Given the description of an element on the screen output the (x, y) to click on. 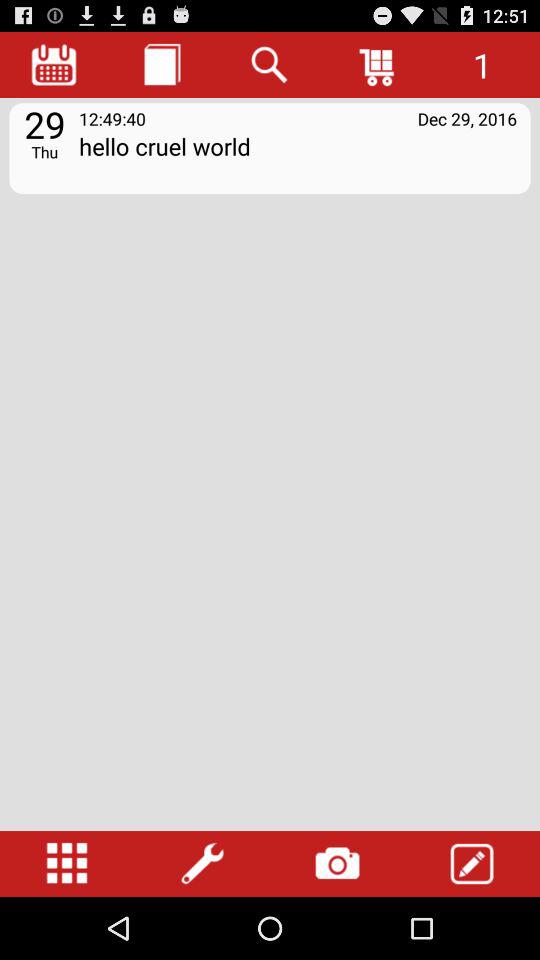
view your cart (377, 64)
